Given the description of an element on the screen output the (x, y) to click on. 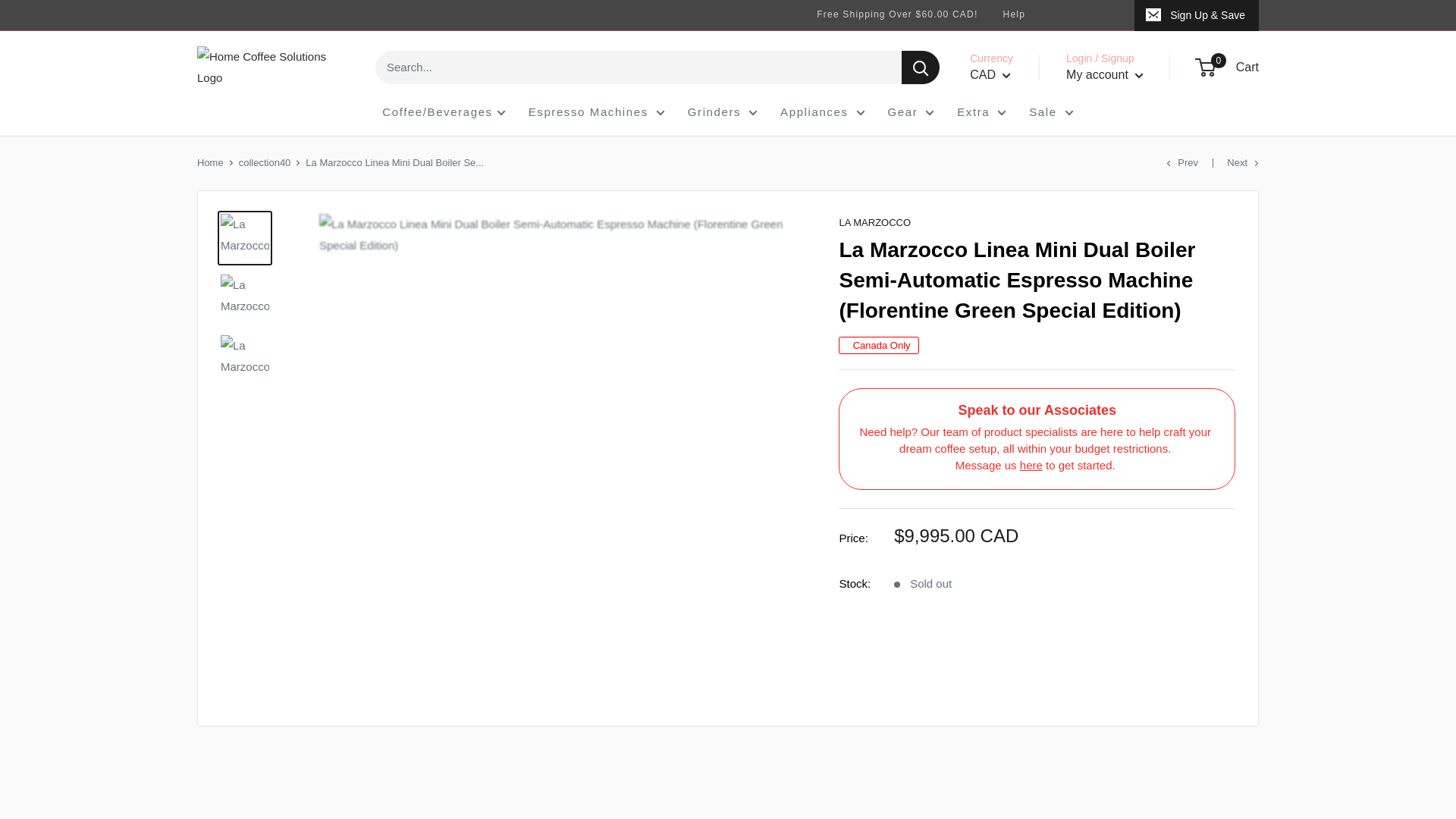
  Help   (1013, 14)
